Given the description of an element on the screen output the (x, y) to click on. 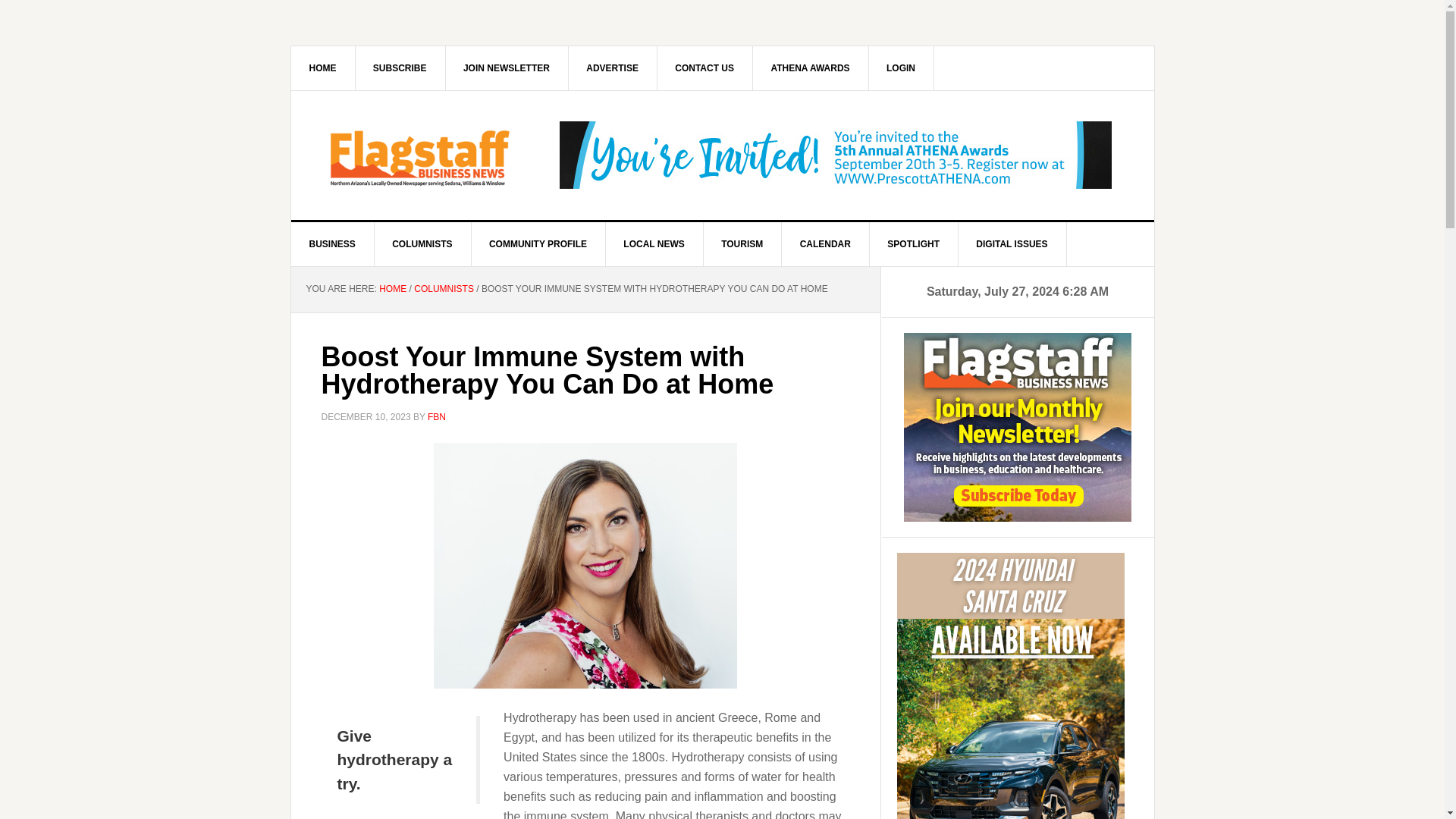
CONTACT US (704, 67)
COMMUNITY PROFILE (537, 243)
ATHENA AWARDS (809, 67)
BUSINESS (332, 243)
ADVERTISE (612, 67)
HOME (323, 67)
DIGITAL ISSUES (1011, 243)
TOURISM (742, 243)
COLUMNISTS (422, 243)
HOME (392, 288)
LOGIN (900, 67)
SUBSCRIBE (400, 67)
FBN (436, 416)
LOCAL NEWS (654, 243)
